Given the description of an element on the screen output the (x, y) to click on. 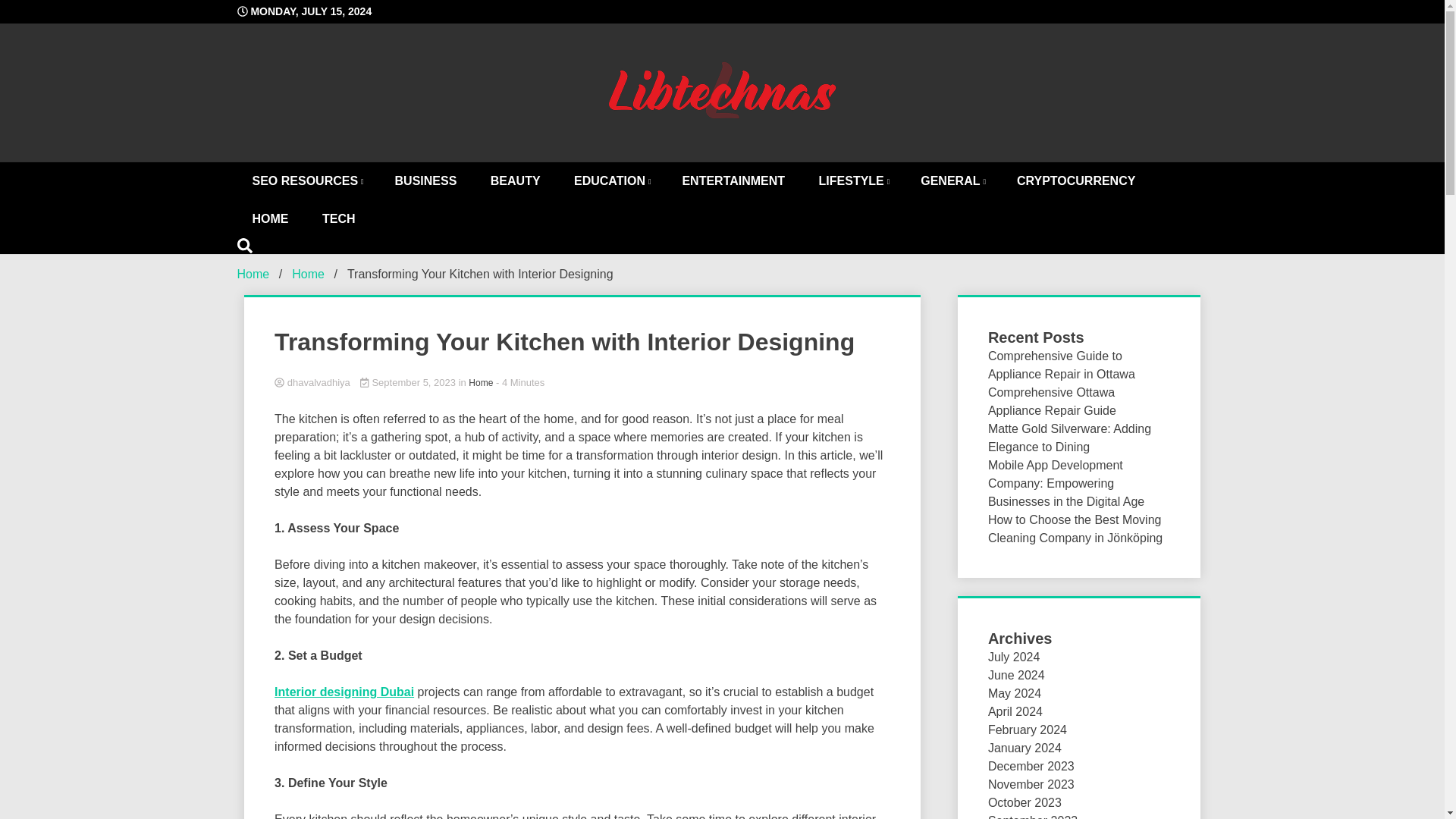
Libtechnas (814, 180)
EDUCATION (611, 180)
Interior designing Dubai (344, 691)
TECH (339, 218)
CRYPTOCURRENCY (1075, 180)
ENTERTAINMENT (732, 180)
BUSINESS (425, 180)
Home (480, 382)
SEO RESOURCES (305, 180)
LIFESTYLE (852, 180)
GENERAL (951, 180)
BEAUTY (516, 180)
Estimated Reading Time of Article (520, 382)
Home (252, 273)
Home (308, 273)
